Given the description of an element on the screen output the (x, y) to click on. 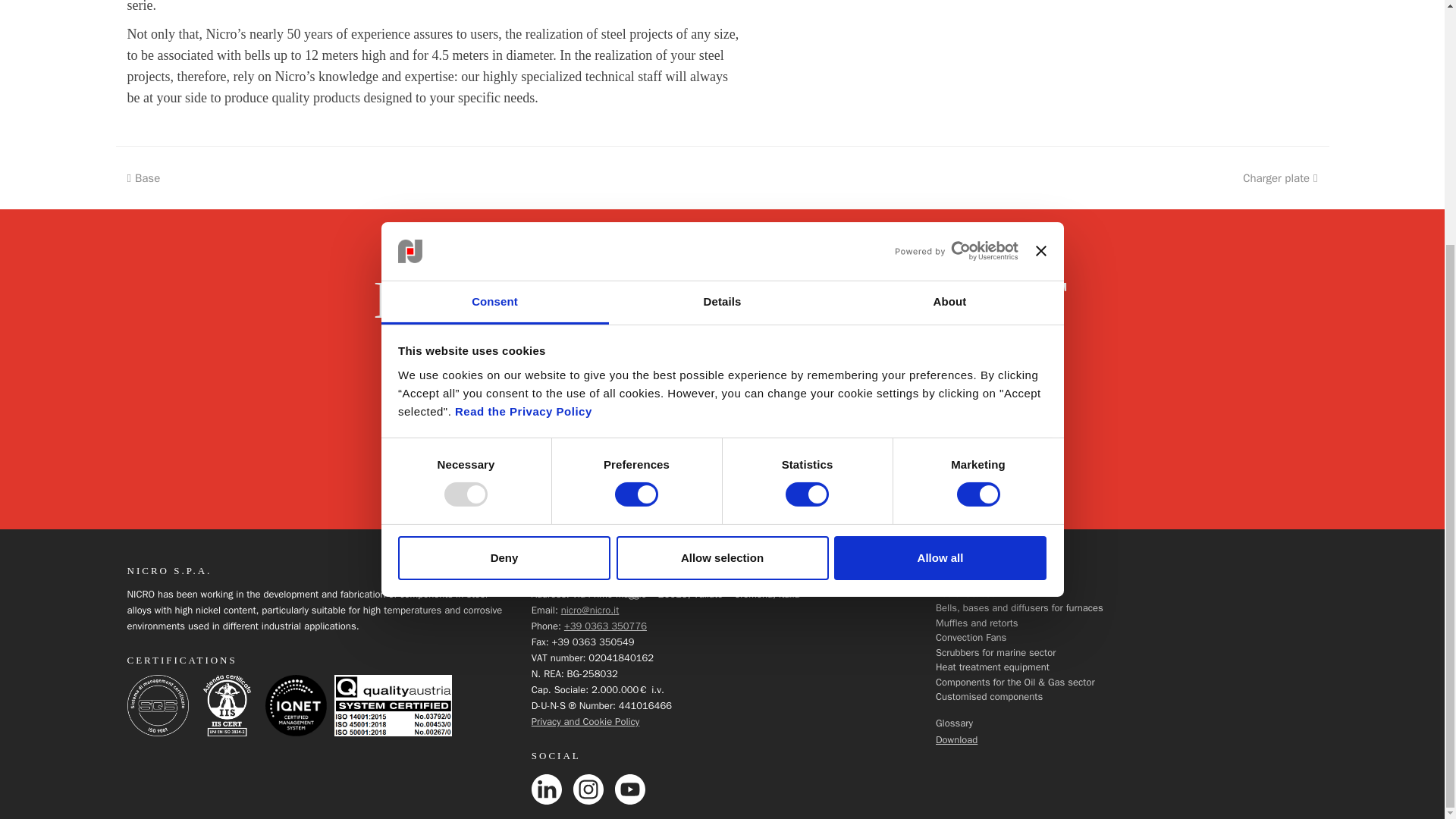
Allow selection (721, 218)
Allow all (940, 218)
Read the Privacy Policy (523, 71)
Deny (503, 218)
